Given the description of an element on the screen output the (x, y) to click on. 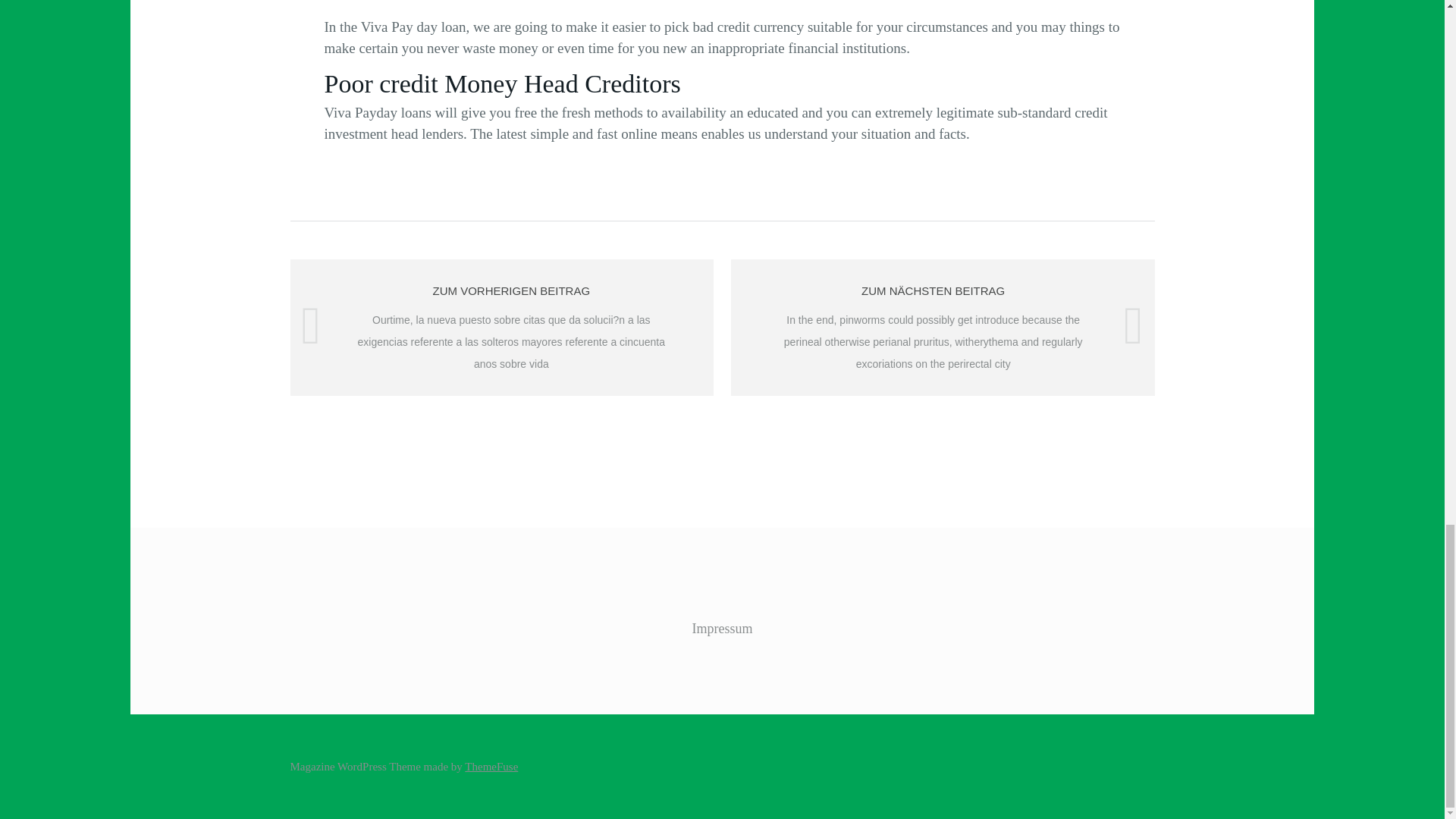
ThemeFuse (491, 766)
Impressum (721, 628)
